Given the description of an element on the screen output the (x, y) to click on. 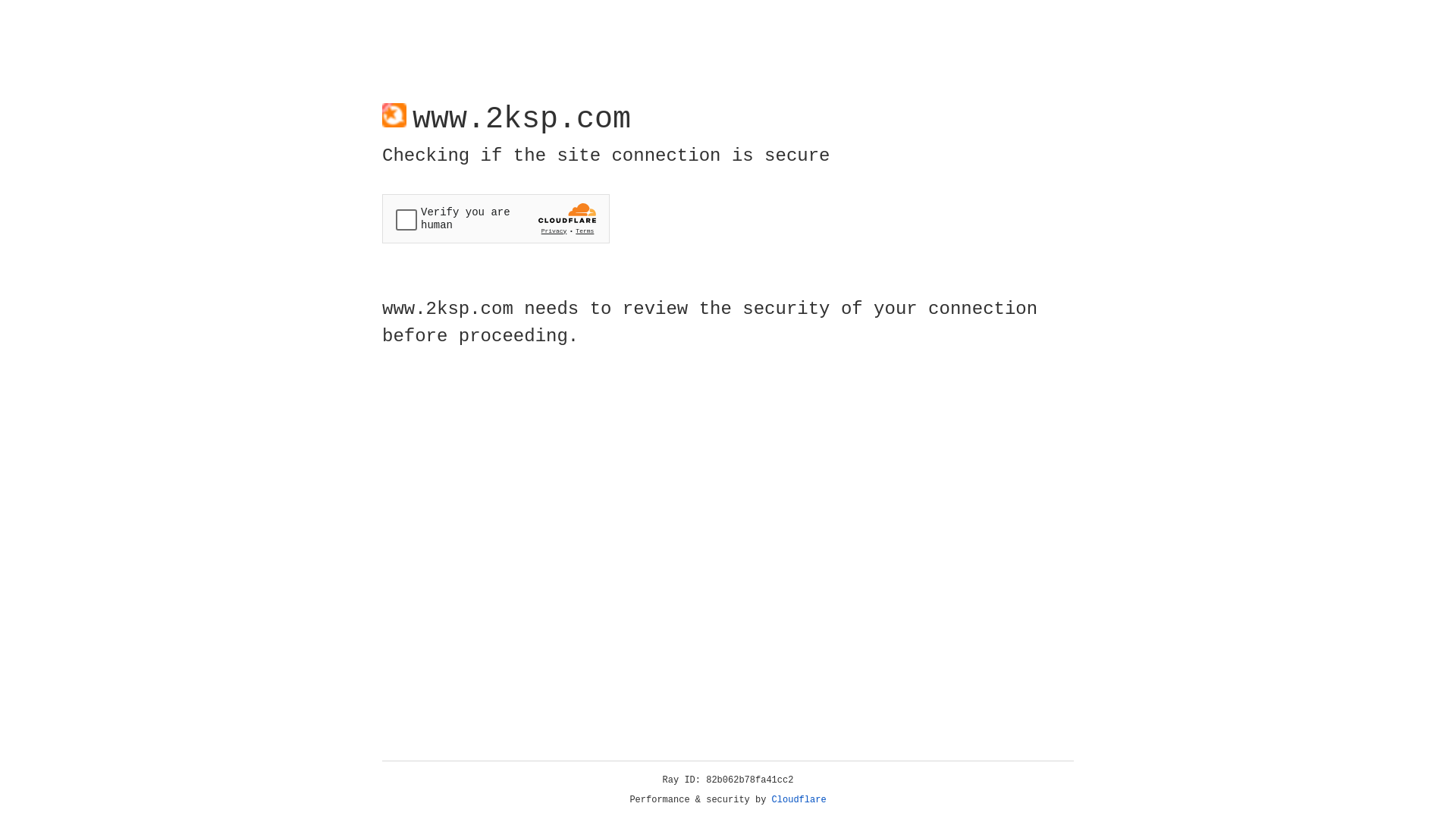
Cloudflare Element type: text (798, 799)
Widget containing a Cloudflare security challenge Element type: hover (495, 218)
